Given the description of an element on the screen output the (x, y) to click on. 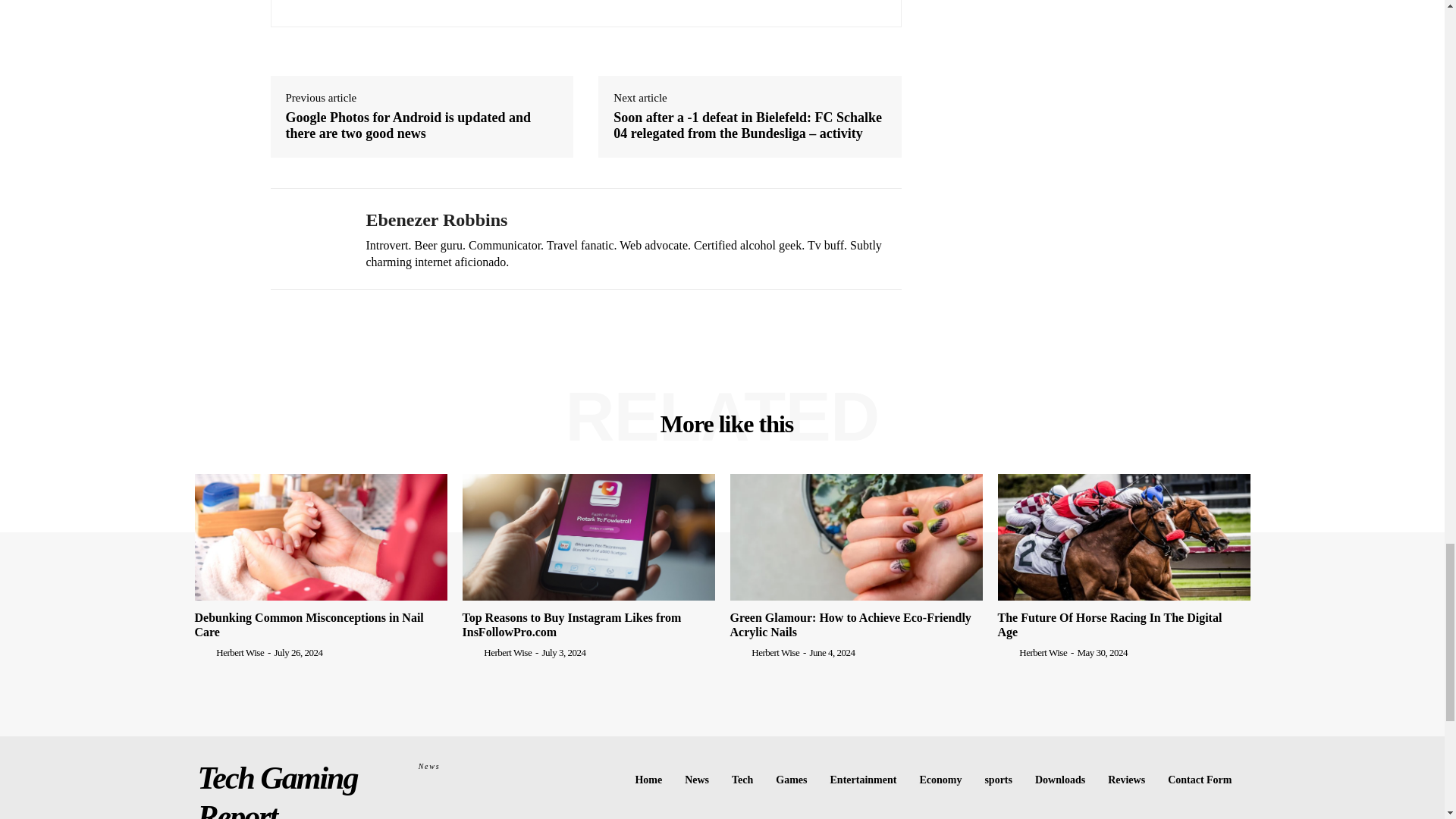
Ebenezer Robbins (305, 238)
